Given the description of an element on the screen output the (x, y) to click on. 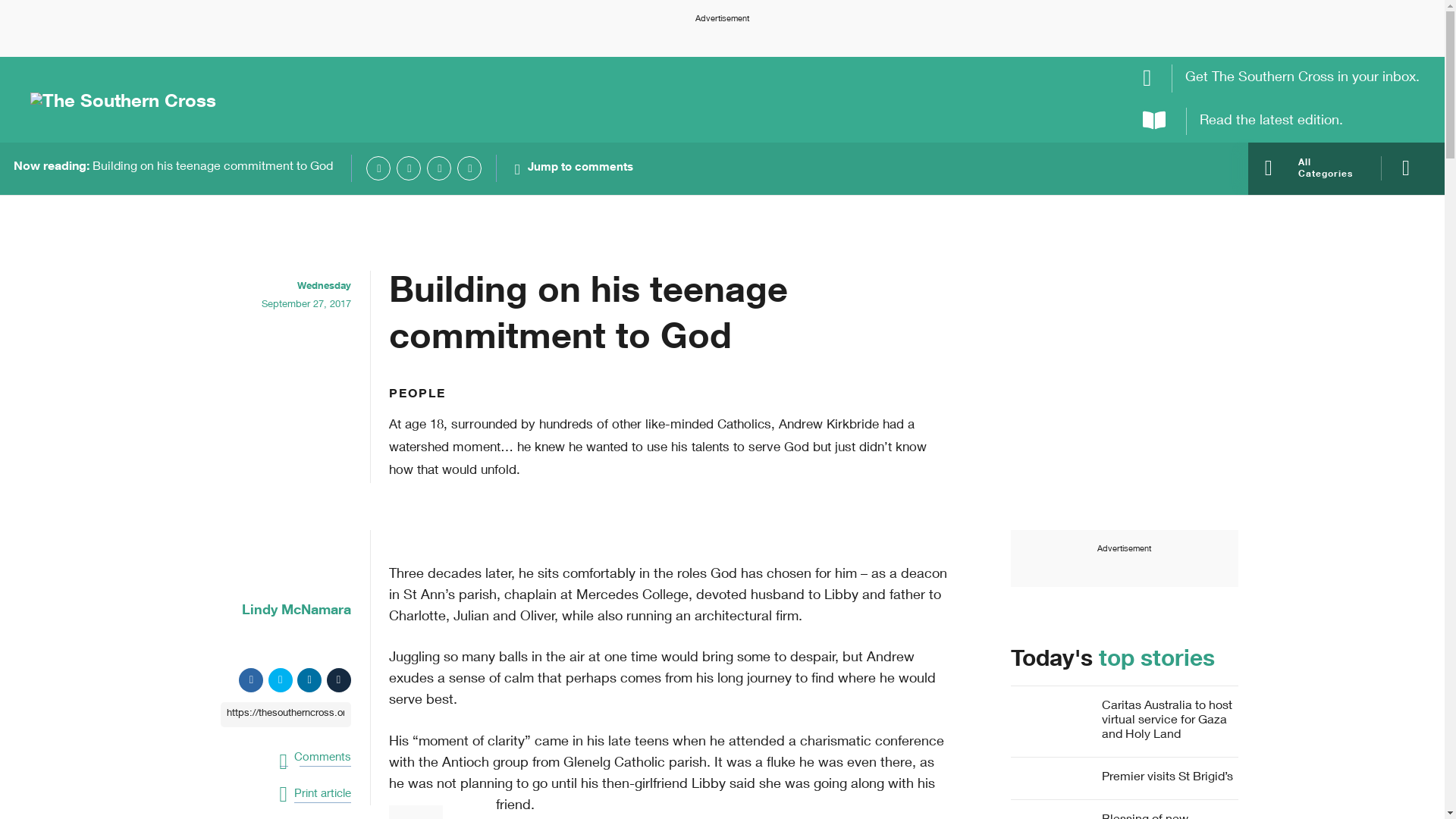
Lindy McNamara Element type: text (278, 611)
Comments Element type: text (315, 754)
Print article Element type: text (315, 795)
Read the latest edition. Element type: text (1280, 120)
Jump to comments Element type: text (573, 167)
Get The Southern Cross in your inbox. Element type: text (1280, 77)
PEOPLE Element type: text (416, 395)
